Given the description of an element on the screen output the (x, y) to click on. 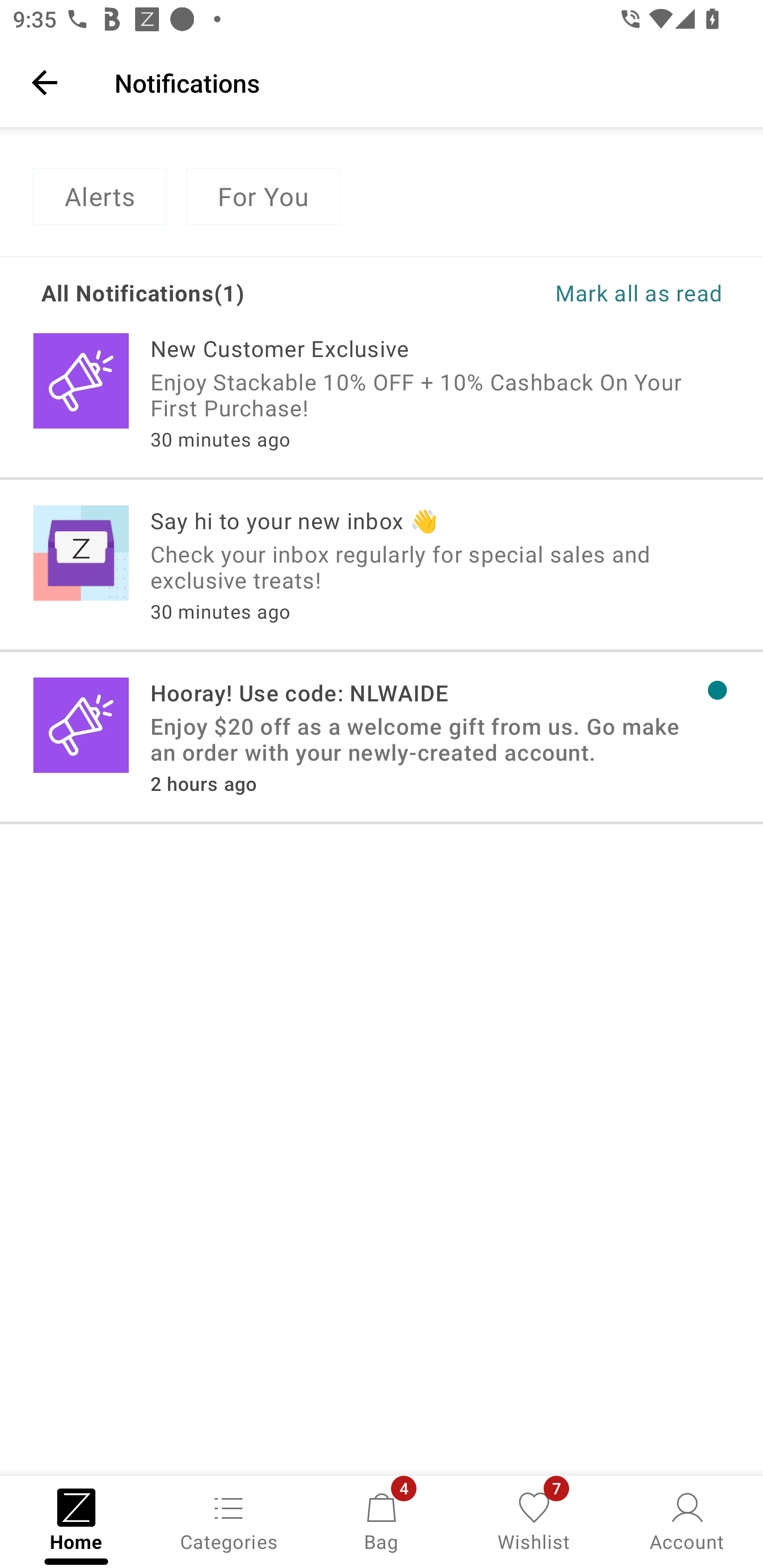
Navigate up (44, 82)
Notifications (426, 82)
Alerts (99, 196)
For You (262, 196)
Mark all as read (551, 292)
Categories (228, 1519)
Bag, 4 new notifications Bag (381, 1519)
Wishlist, 7 new notifications Wishlist (533, 1519)
Account (686, 1519)
